Given the description of an element on the screen output the (x, y) to click on. 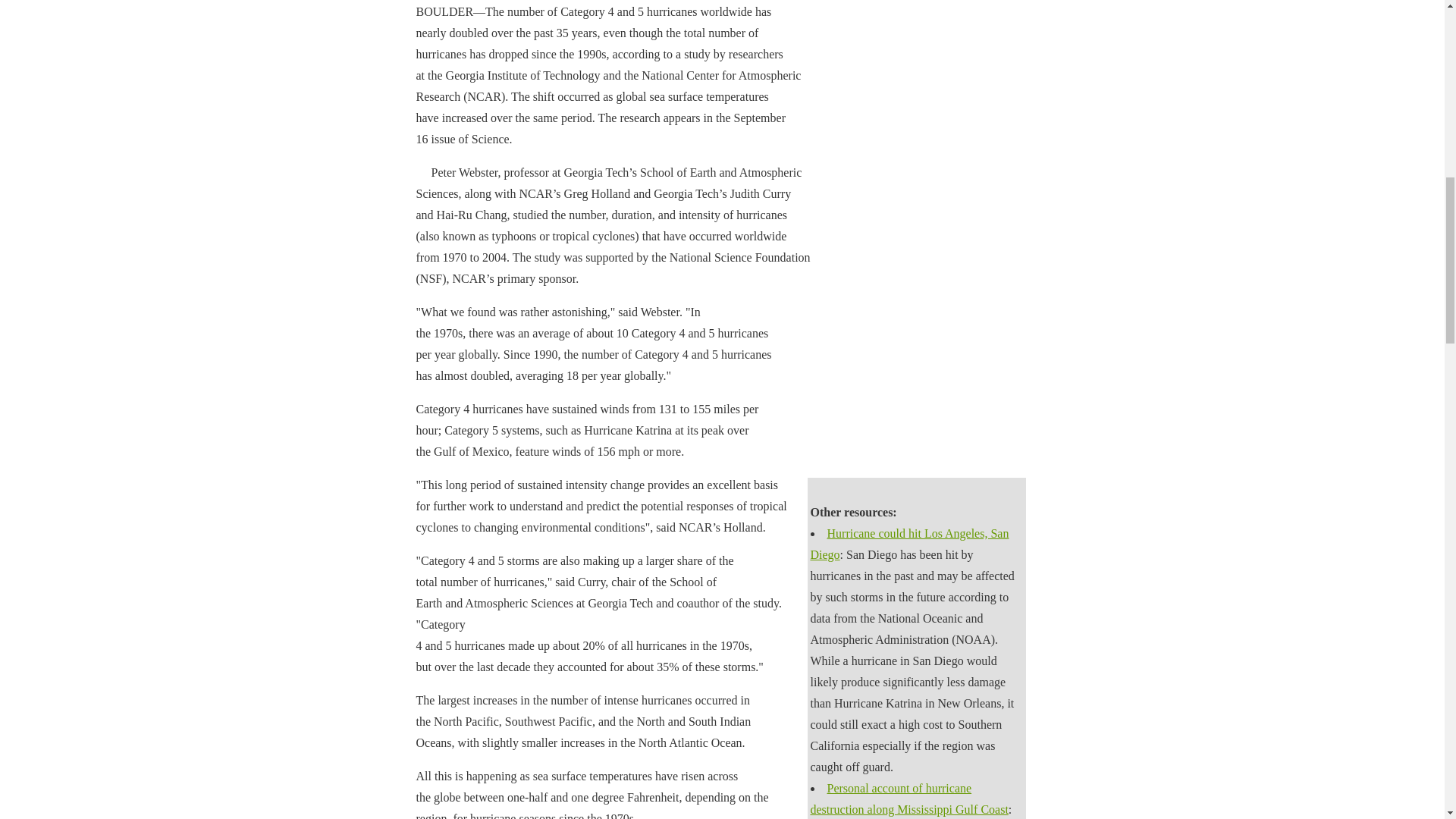
Hurricane could hit Los Angeles, San Diego (909, 544)
